Given the description of an element on the screen output the (x, y) to click on. 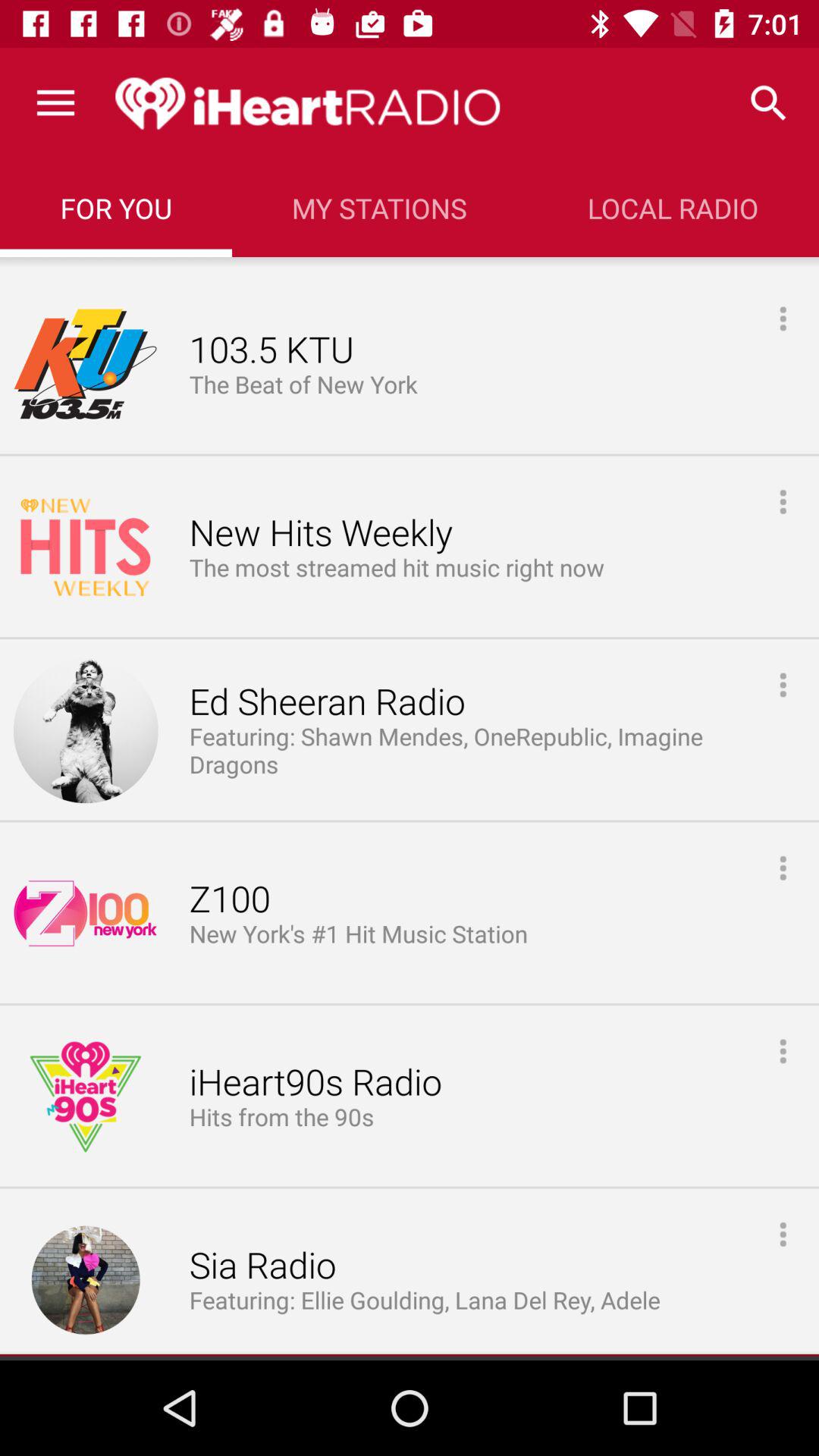
open icon next to my stations (769, 103)
